Given the description of an element on the screen output the (x, y) to click on. 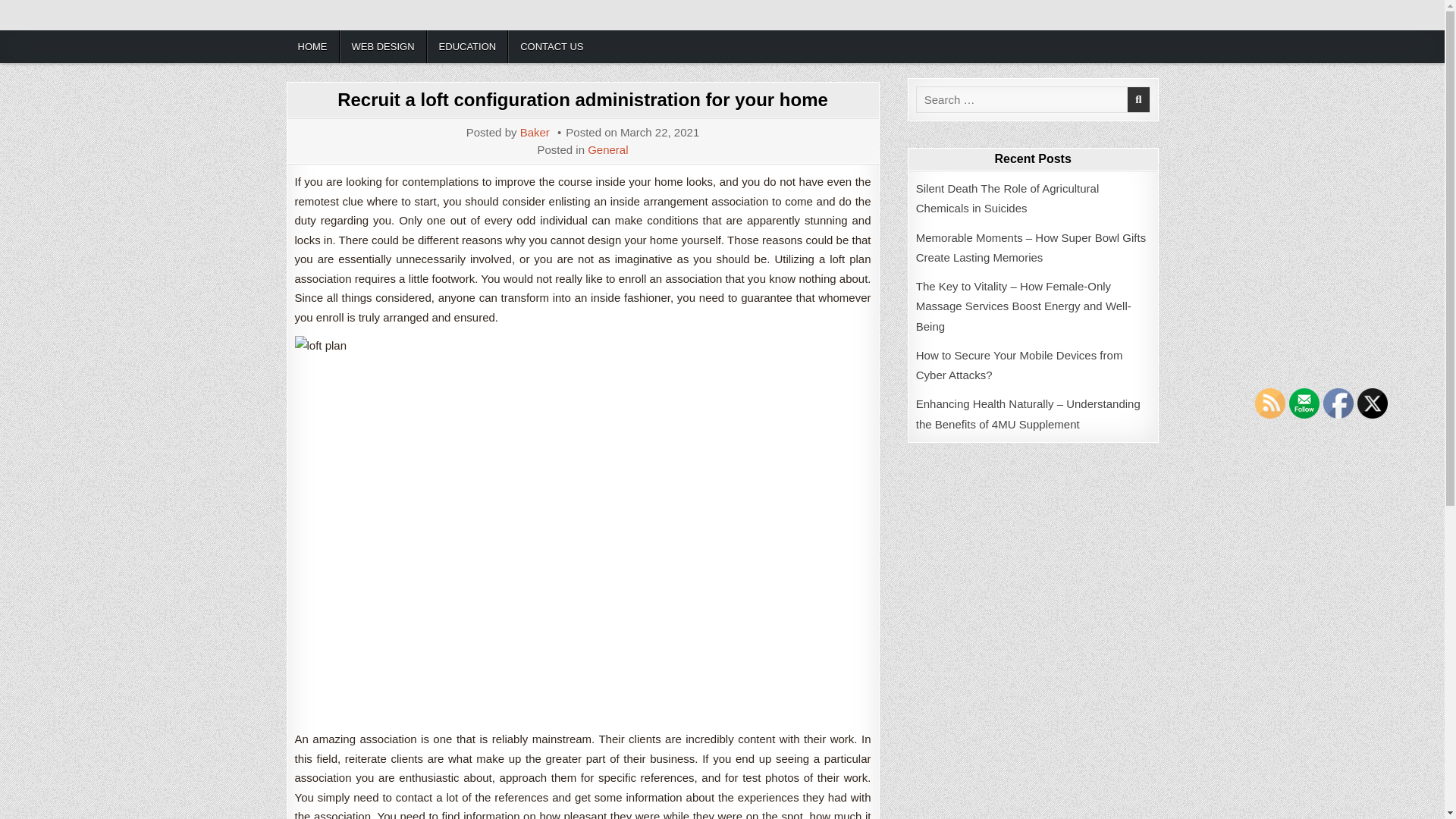
How to Secure Your Mobile Devices from Cyber Attacks? (1018, 364)
EDUCATION (467, 46)
Cem Neuilly Surmarne (383, 27)
CONTACT US (551, 46)
Follow by Email (1303, 403)
HOME (312, 46)
General (607, 149)
WEB DESIGN (382, 46)
Recruit a loft configuration administration for your home (582, 99)
Silent Death The Role of Agricultural Chemicals in Suicides (1007, 197)
